Given the description of an element on the screen output the (x, y) to click on. 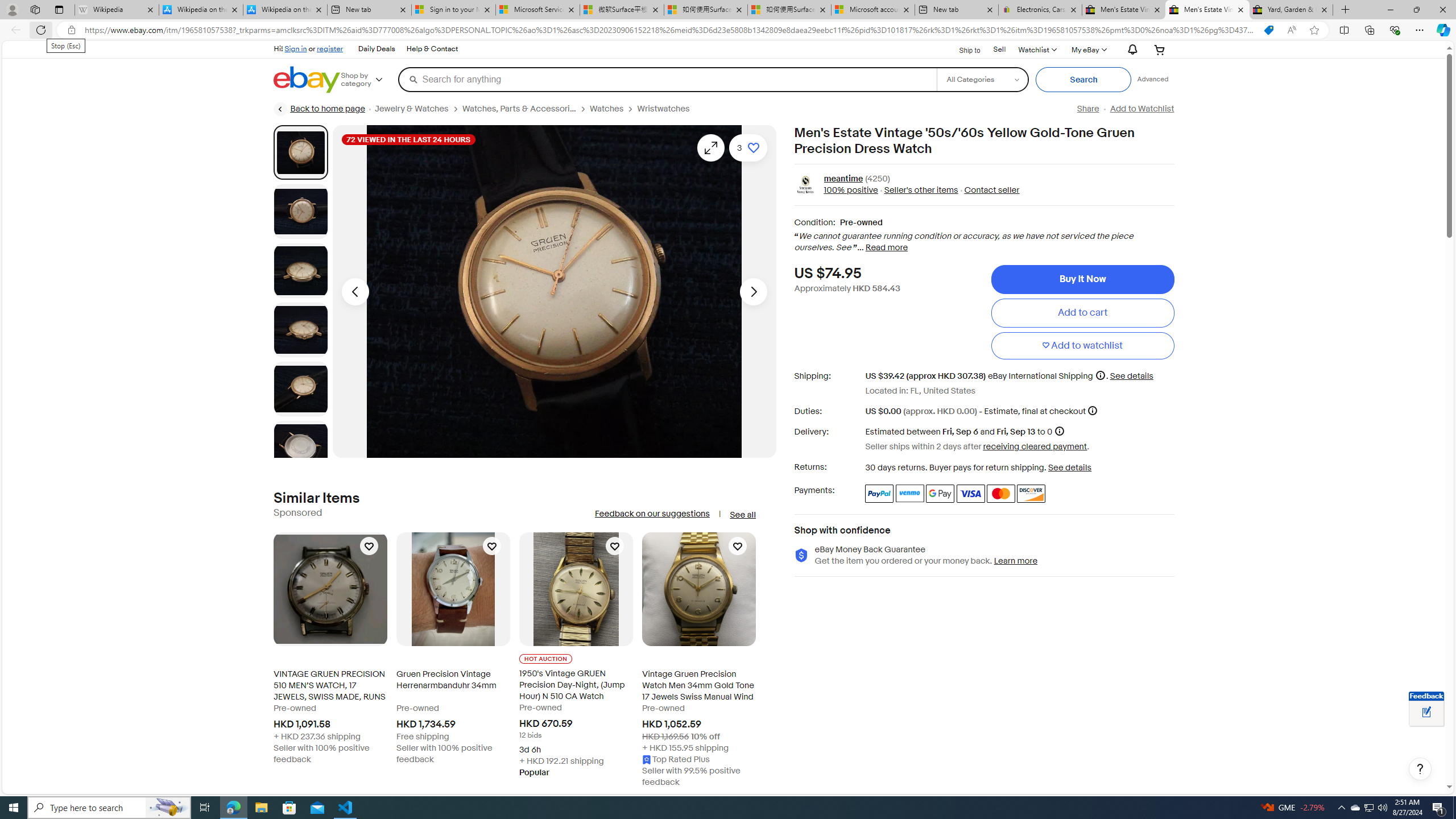
Search for anything (666, 78)
meantime (843, 179)
Add to cart (1082, 312)
Picture 2 of 8 (300, 211)
Picture 2 of 8 (300, 211)
100% positive (850, 190)
Picture 3 of 8 (300, 270)
